Given the description of an element on the screen output the (x, y) to click on. 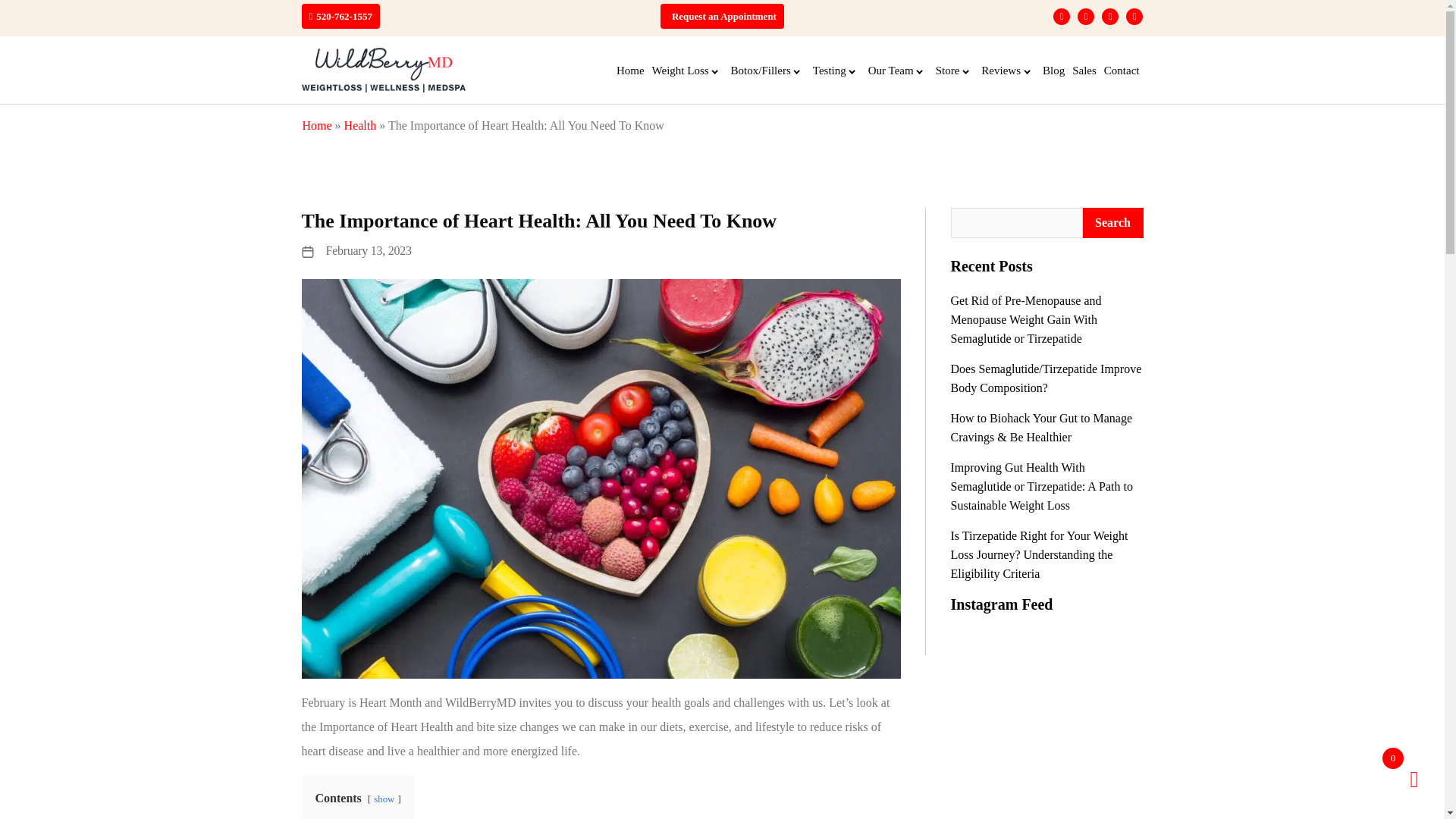
Search (1112, 223)
Search (1112, 223)
Store (954, 70)
Testing (836, 70)
Our Team (897, 70)
520-762-1557 (343, 16)
Weight Loss (686, 70)
Request an Appointment (723, 16)
Home (629, 70)
The Importance of Heart Health: All You Need To Know 1 (601, 477)
